Given the description of an element on the screen output the (x, y) to click on. 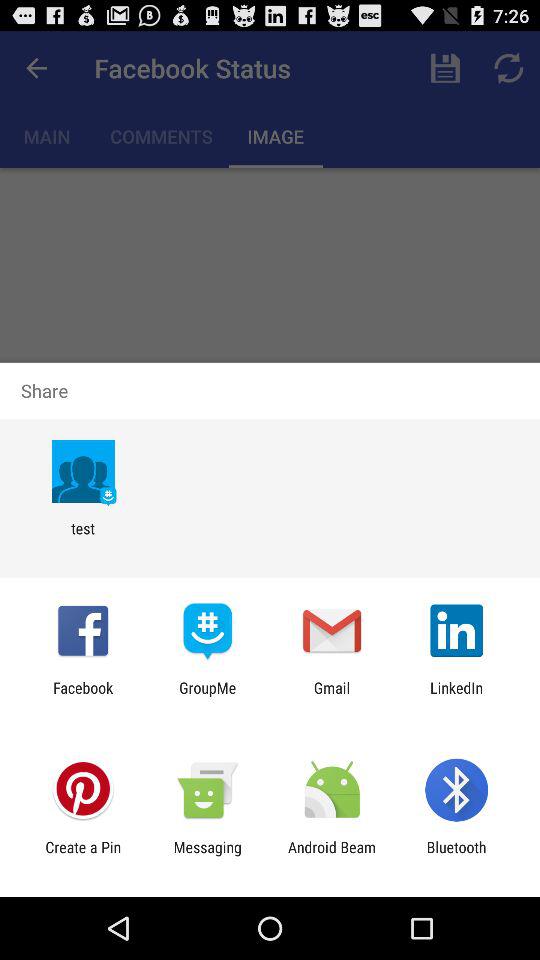
press the item next to linkedin item (331, 696)
